Given the description of an element on the screen output the (x, y) to click on. 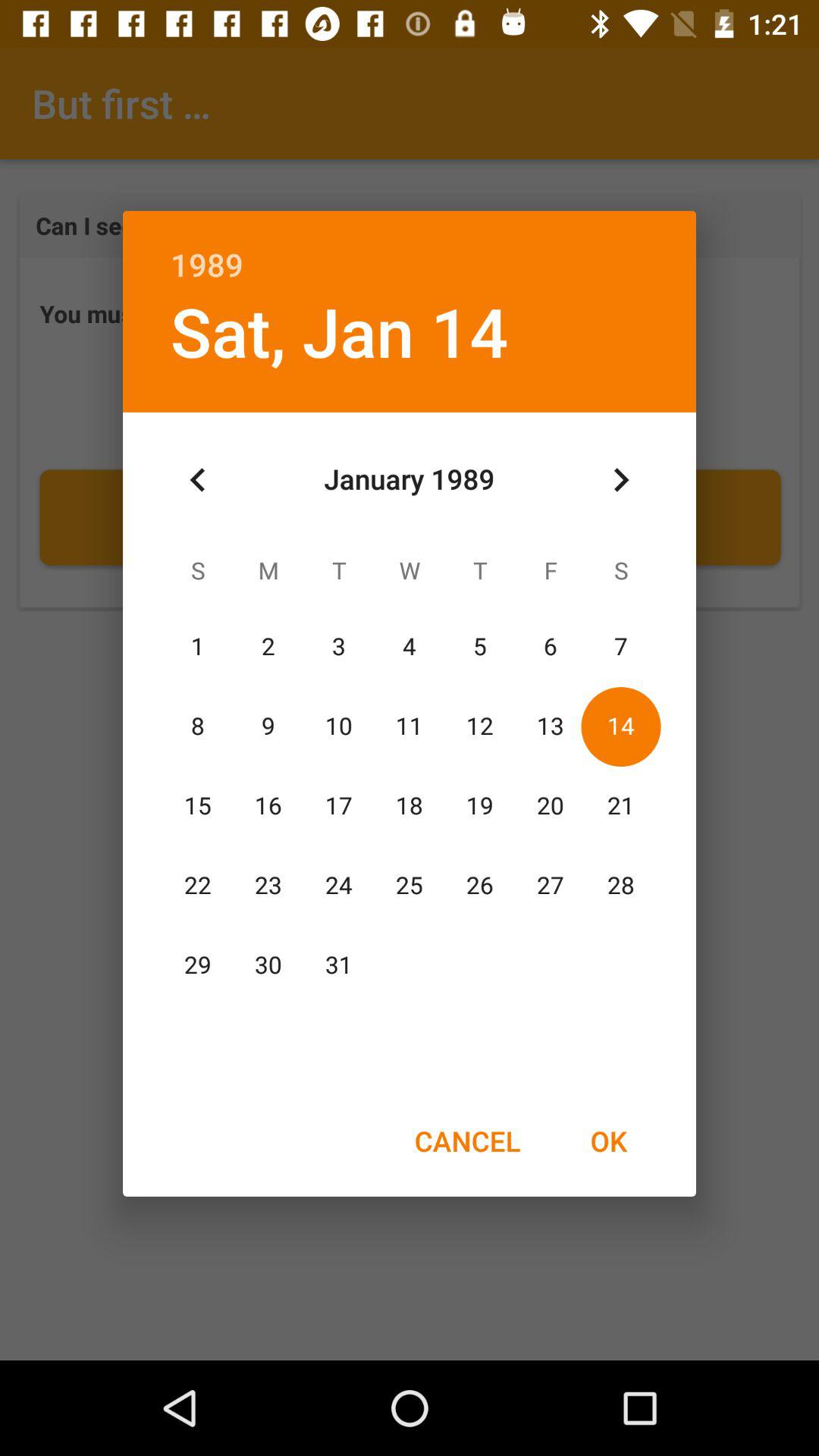
launch item to the left of the ok item (467, 1140)
